Given the description of an element on the screen output the (x, y) to click on. 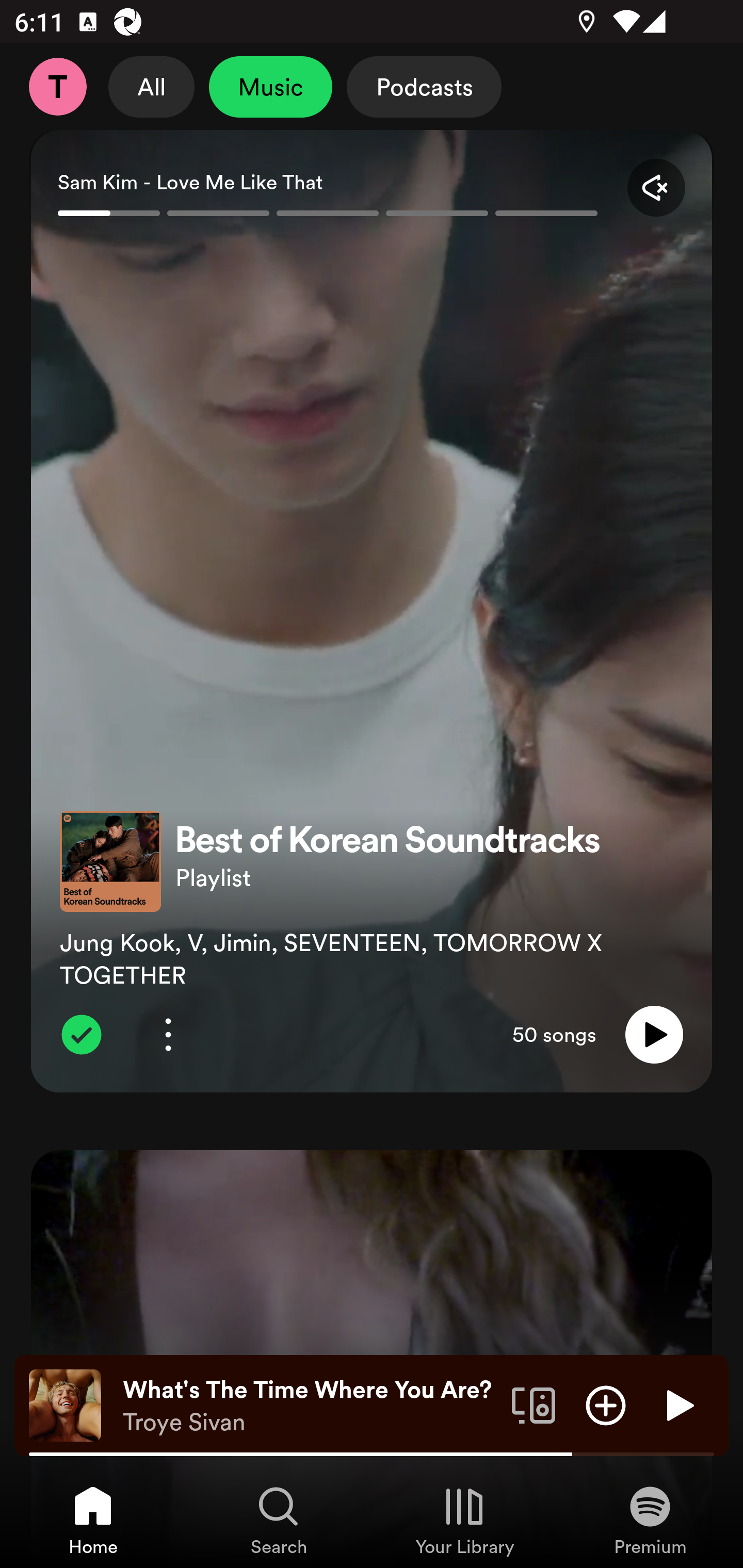
Profile (57, 86)
All Select All (151, 86)
Music Unselect Music (270, 86)
Podcasts Select Podcasts (423, 86)
Unmute (655, 187)
Item added (80, 1034)
Play (653, 1034)
What's The Time Where You Are? Troye Sivan (309, 1405)
The cover art of the currently playing track (64, 1404)
Connect to a device. Opens the devices menu (533, 1404)
Add item (605, 1404)
Play (677, 1404)
Home, Tab 1 of 4 Home Home (92, 1519)
Search, Tab 2 of 4 Search Search (278, 1519)
Your Library, Tab 3 of 4 Your Library Your Library (464, 1519)
Premium, Tab 4 of 4 Premium Premium (650, 1519)
